Given the description of an element on the screen output the (x, y) to click on. 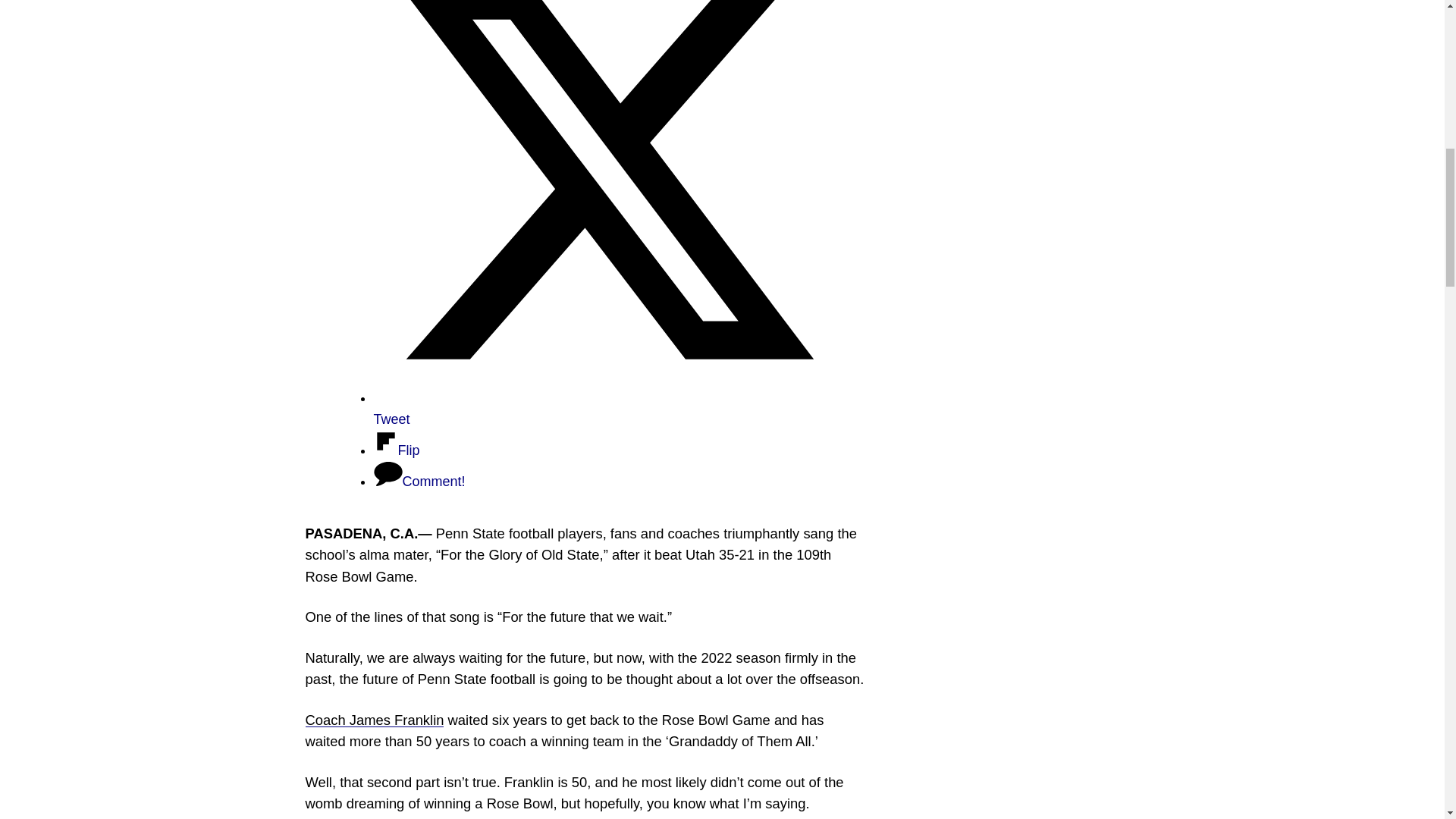
Share on Comment! (418, 481)
Share on Tweet (603, 408)
Share on Flip (395, 450)
